Given the description of an element on the screen output the (x, y) to click on. 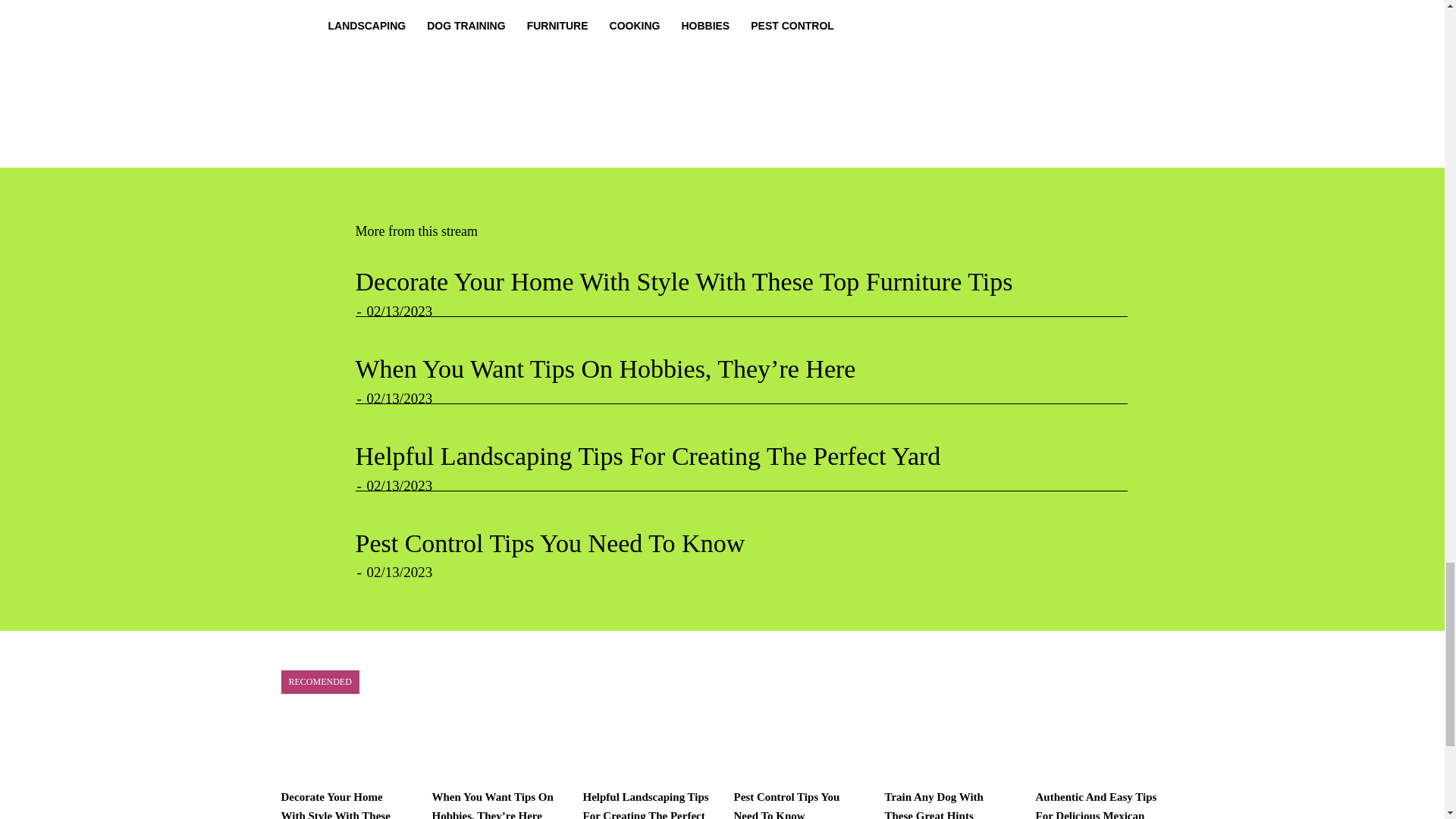
Pest Control Tips You Need To Know (549, 543)
Helpful Landscaping Tips For Creating The Perfect Yard (647, 456)
Helpful Landscaping Tips For Creating The Perfect Yard (647, 456)
Decorate Your Home With Style With These Top Furniture Tips (683, 281)
Decorate Your Home With Style With These Top Furniture Tips (683, 281)
Decorate Your Home With Style With These Top Furniture Tips (335, 805)
